Given the description of an element on the screen output the (x, y) to click on. 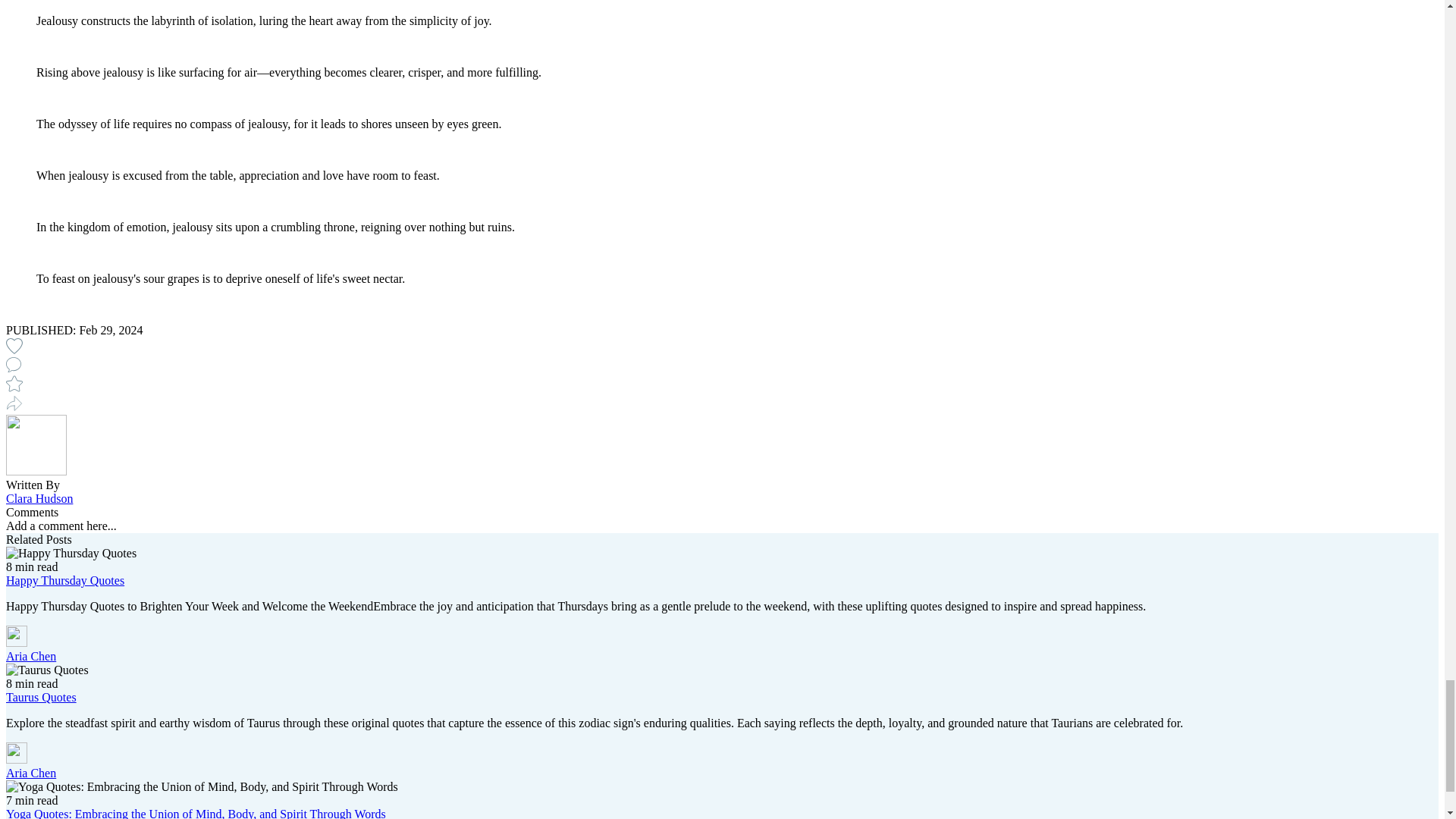
Taurus Quotes (41, 697)
Clara Hudson (38, 498)
Happy Thursday Quotes (64, 580)
